Given the description of an element on the screen output the (x, y) to click on. 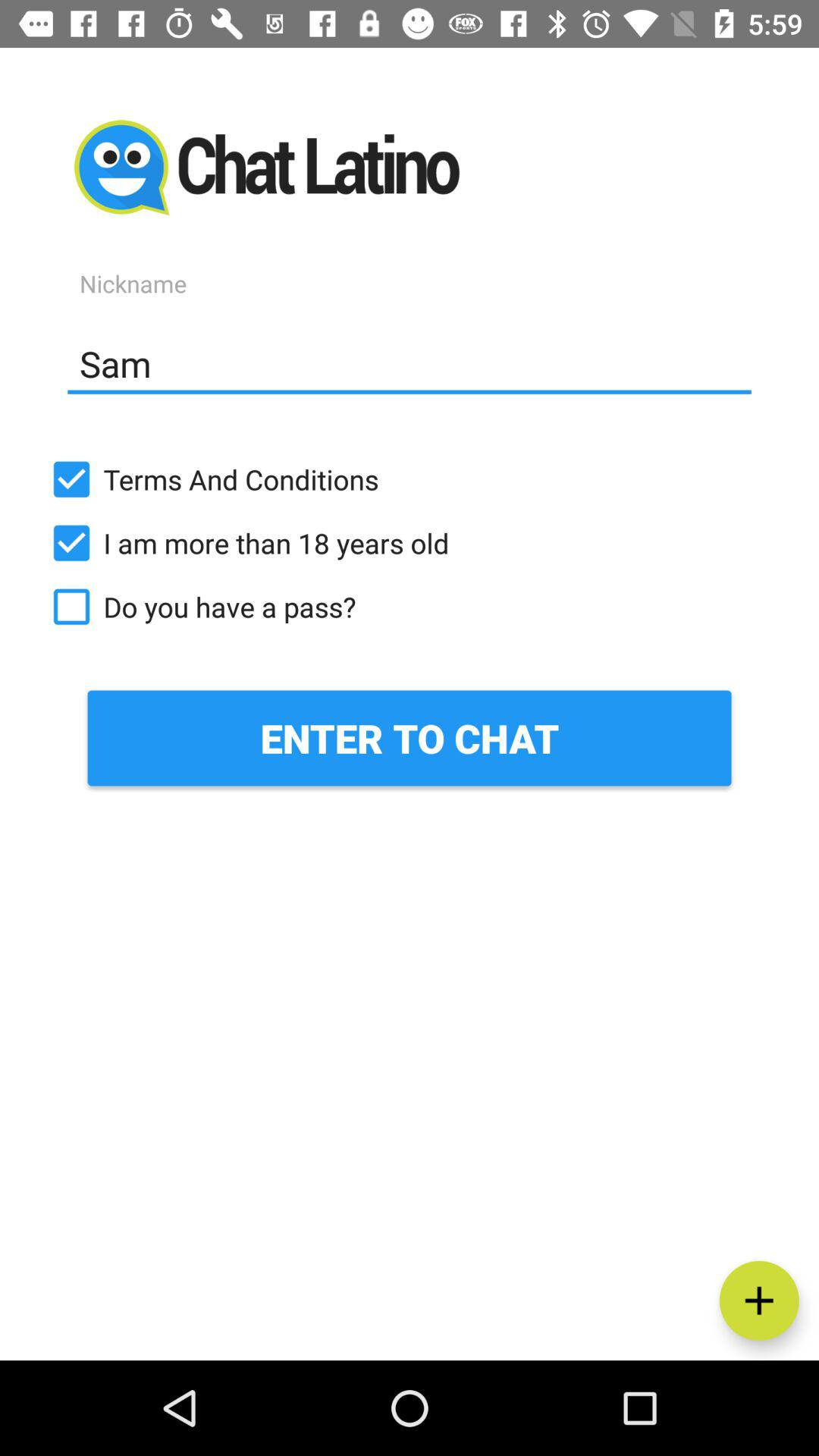
launch icon below nickname (409, 363)
